Given the description of an element on the screen output the (x, y) to click on. 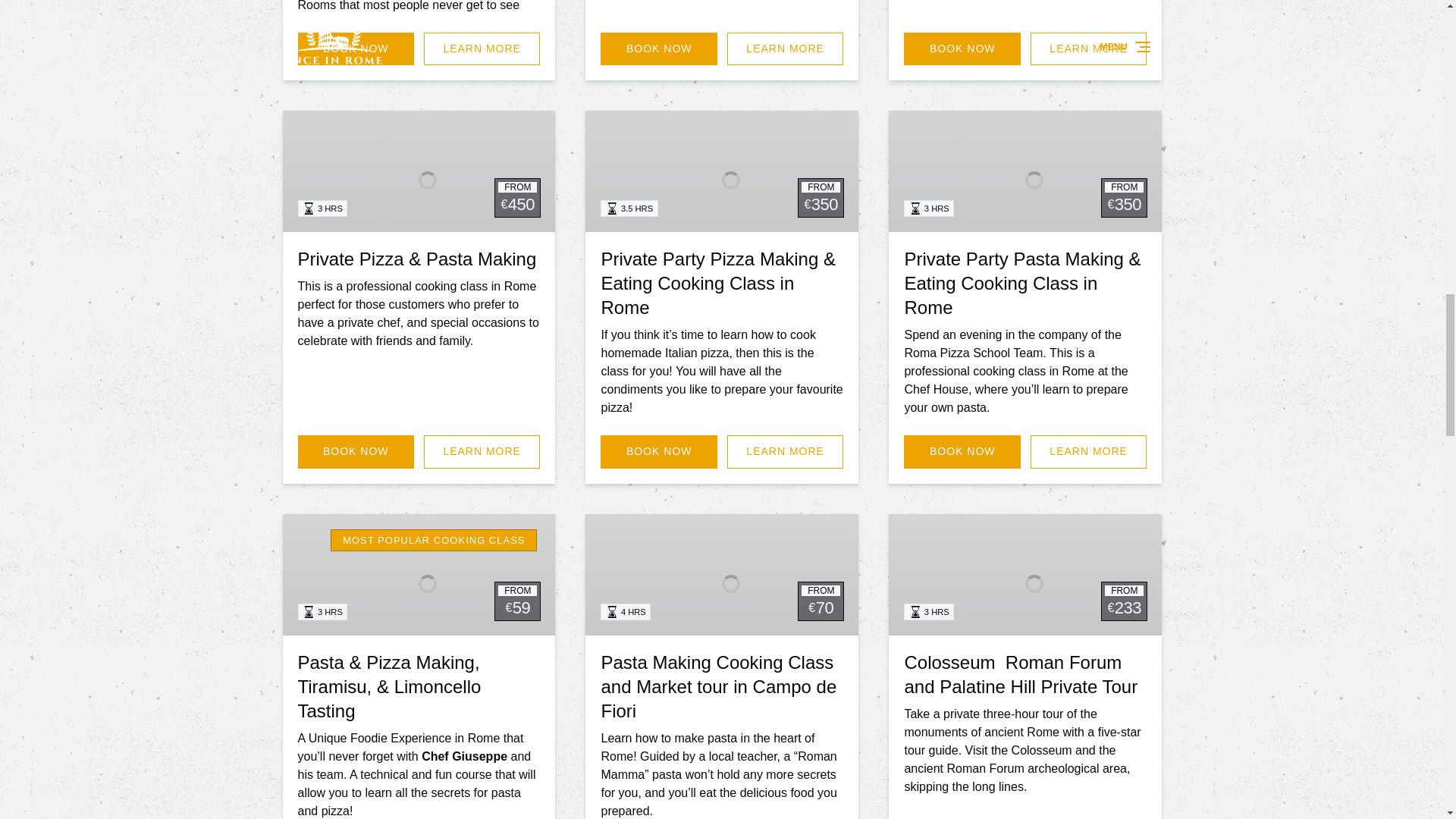
LEARN MORE (481, 49)
LEARN MORE (785, 49)
BOOK NOW (355, 49)
BOOK NOW (658, 49)
